Given the description of an element on the screen output the (x, y) to click on. 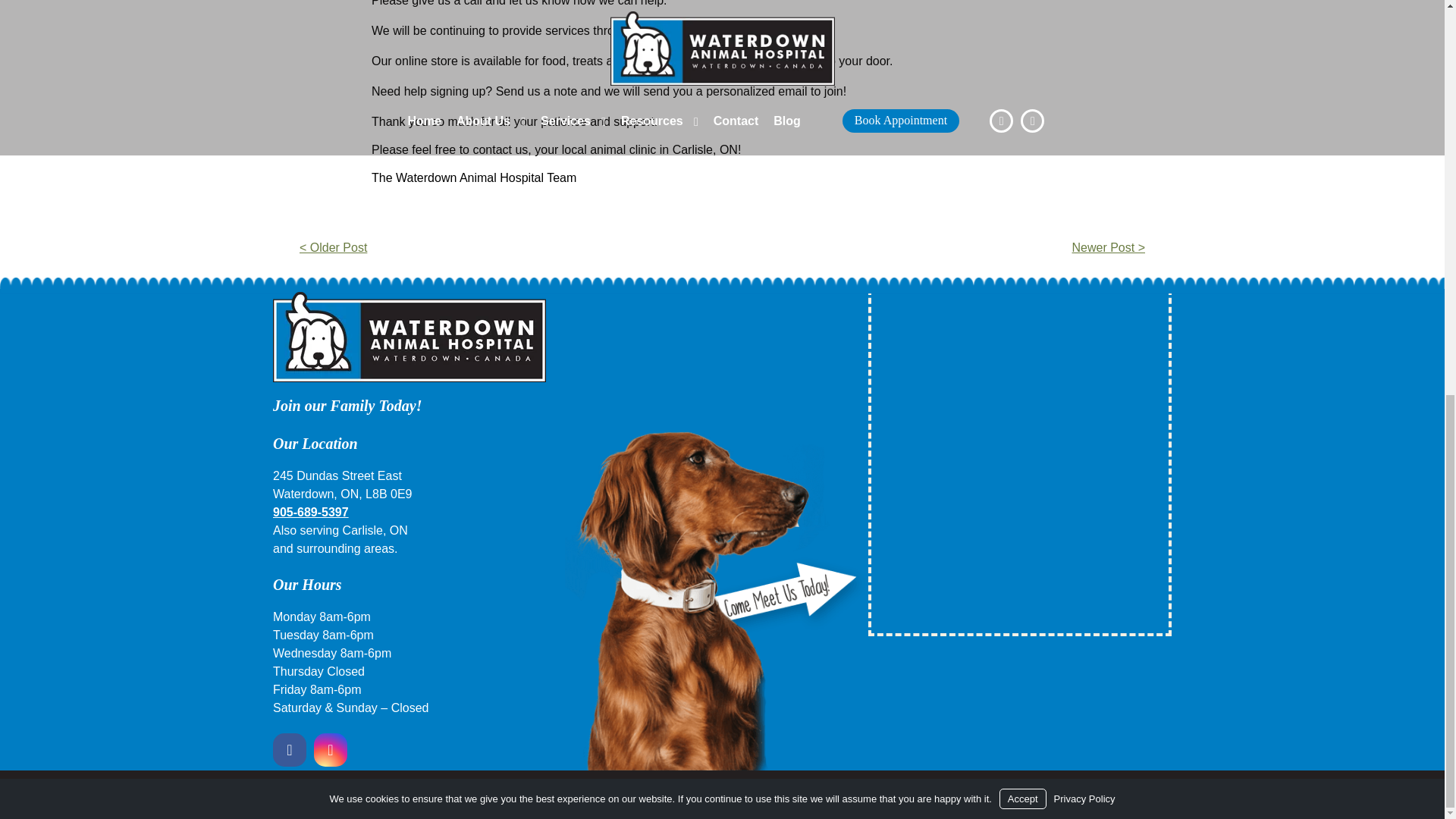
Facebook (291, 749)
Instagram (330, 749)
